Given the description of an element on the screen output the (x, y) to click on. 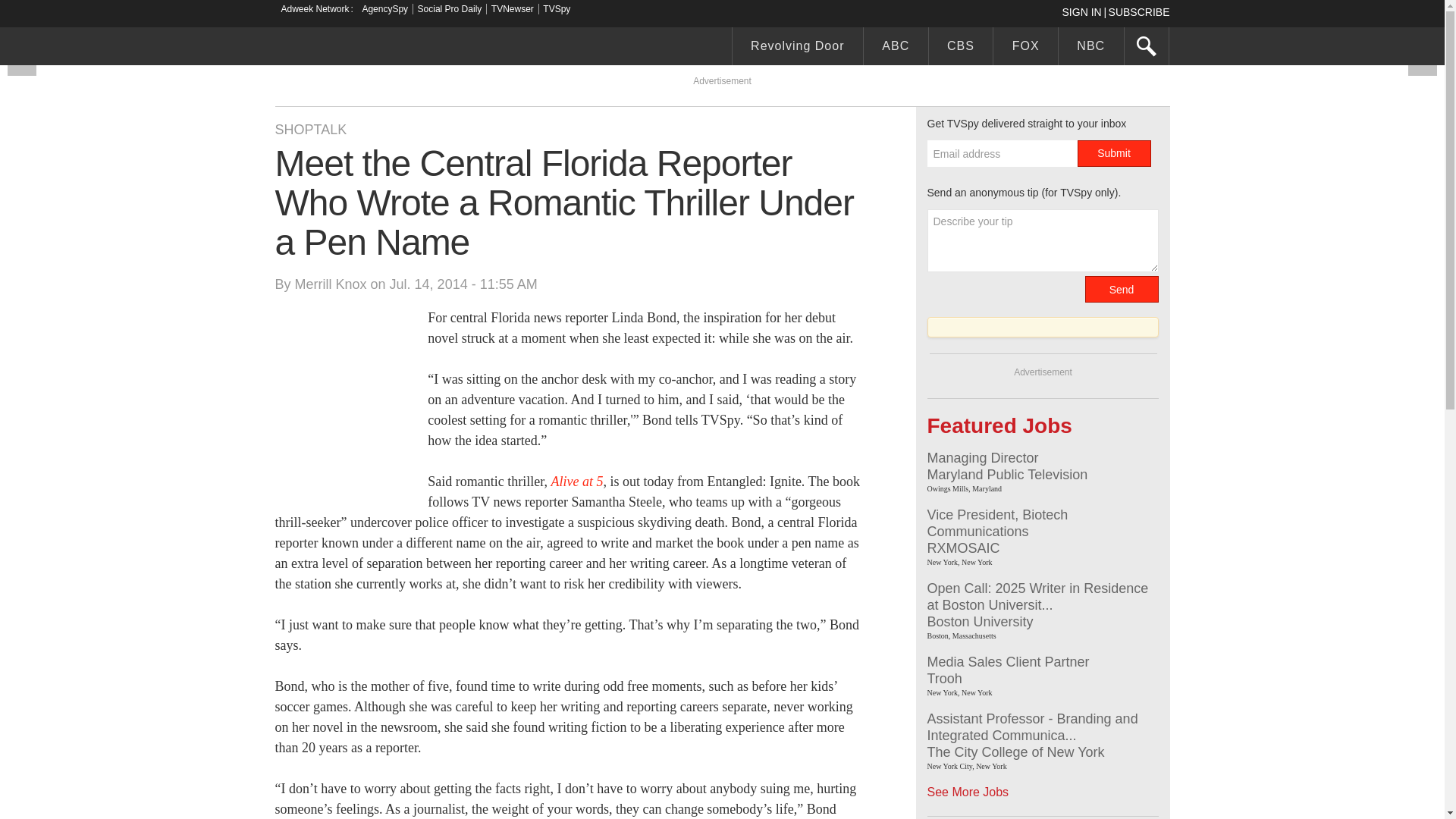
NBC (1091, 48)
Submit (1113, 153)
Adweek Network (316, 9)
AgencySpy (384, 9)
Revolving Door (797, 48)
Covering local television news (388, 47)
Social Pro Daily (449, 9)
TVNewser (513, 9)
SUBSCRIBE (1139, 11)
TVSpy (556, 9)
ABC (895, 48)
FOX (1025, 48)
SIGN IN (1084, 11)
Send (1120, 289)
CBS (960, 48)
